Given the description of an element on the screen output the (x, y) to click on. 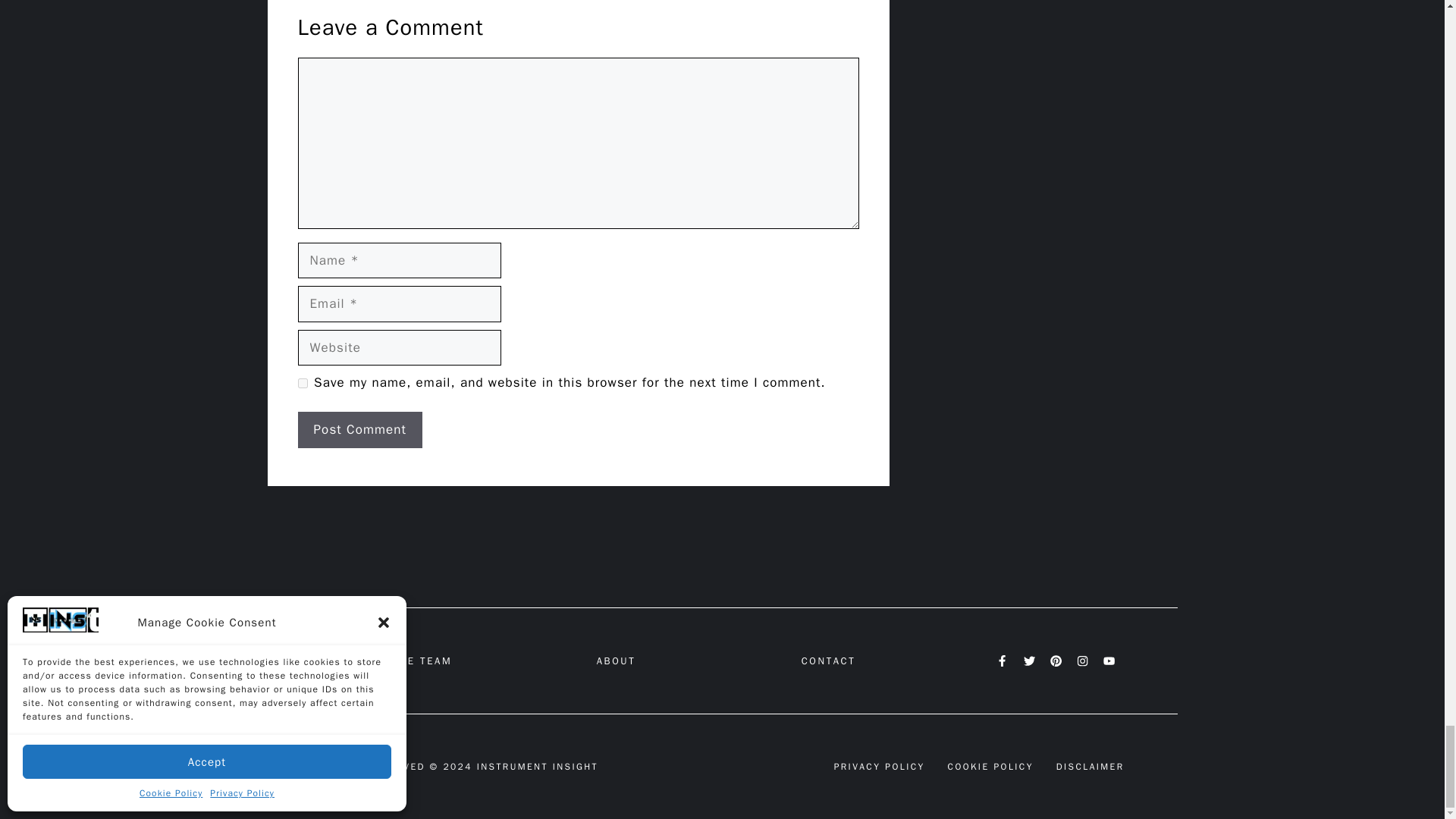
Post Comment (359, 429)
yes (302, 383)
